Given the description of an element on the screen output the (x, y) to click on. 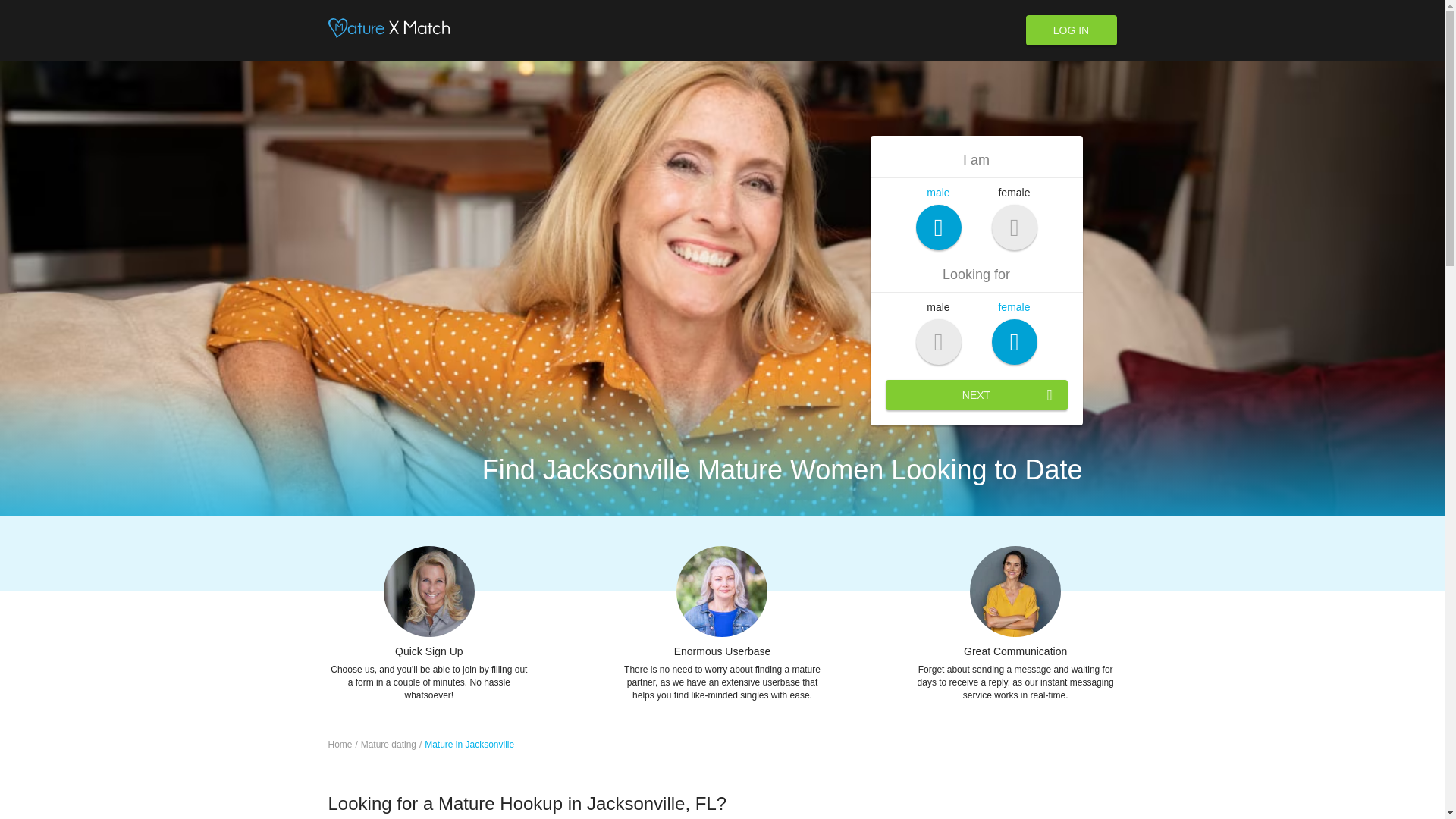
LOG IN (1070, 30)
Home (339, 744)
Mature dating (388, 744)
NEXT (976, 395)
